Given the description of an element on the screen output the (x, y) to click on. 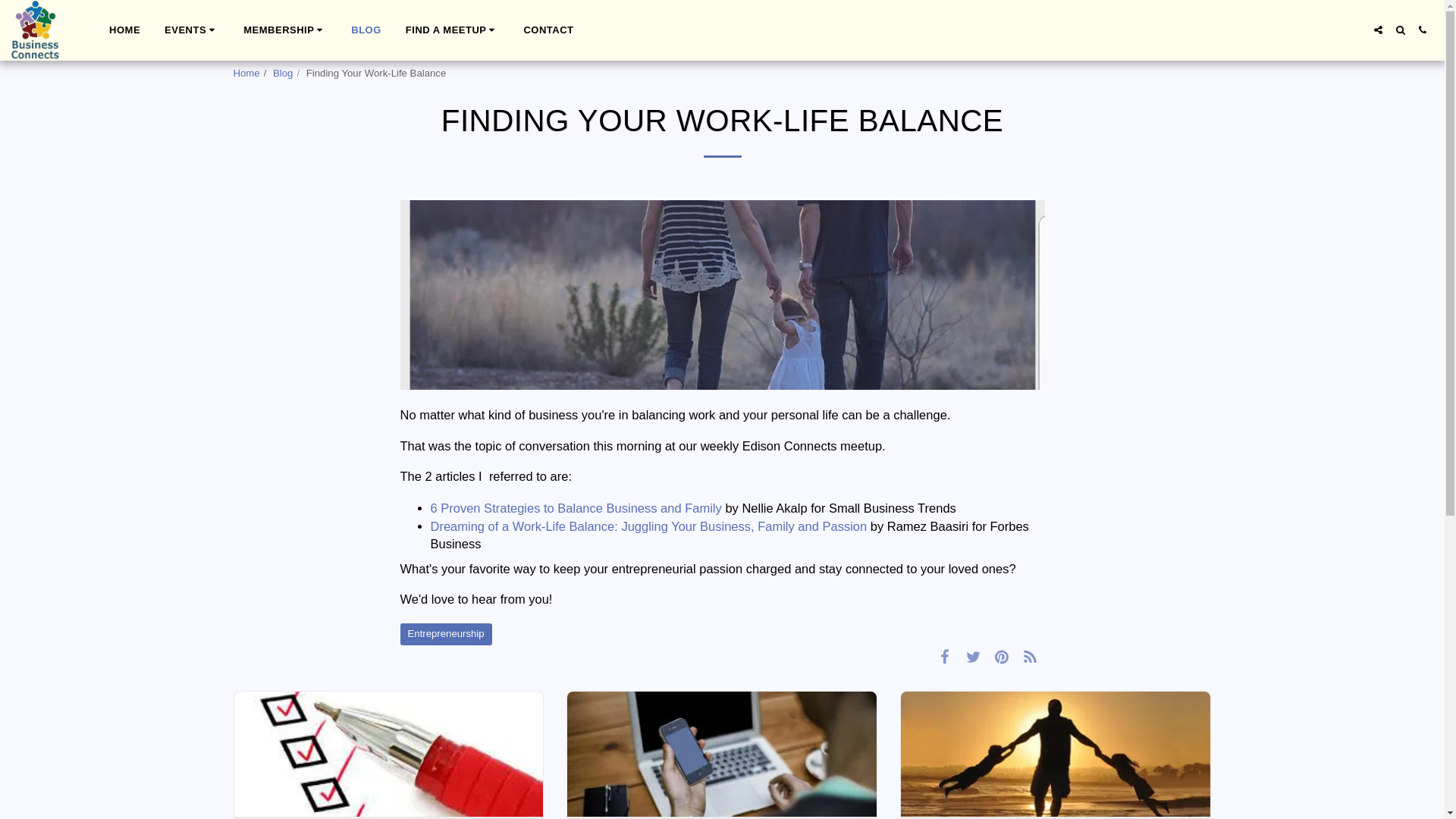
Tweet (973, 656)
BLOG (366, 29)
EVENTS   (191, 29)
FIND A MEETUP   (452, 29)
Pin it (1002, 656)
HOME (124, 29)
MEMBERSHIP   (284, 29)
RSS (1029, 656)
